Given the description of an element on the screen output the (x, y) to click on. 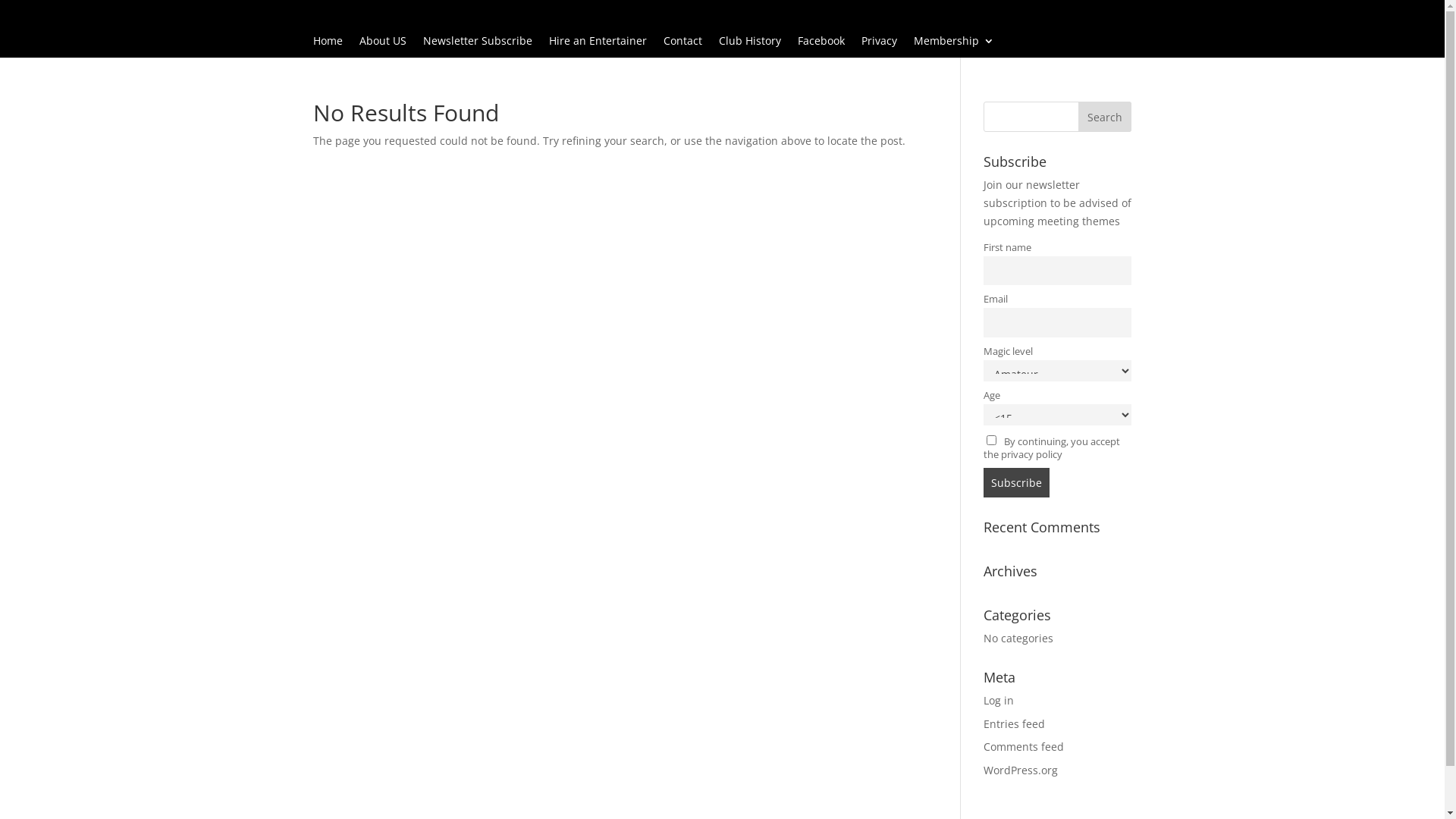
Hire an Entertainer Element type: text (597, 43)
Search Element type: text (1104, 116)
WordPress.org Element type: text (1020, 769)
Log in Element type: text (998, 700)
Contact Element type: text (681, 43)
Subscribe Element type: text (1016, 482)
Facebook Element type: text (820, 43)
Newsletter Subscribe Element type: text (477, 43)
About US Element type: text (382, 43)
Privacy Element type: text (879, 43)
Comments feed Element type: text (1023, 746)
Home Element type: text (327, 43)
Entries feed Element type: text (1013, 722)
Club History Element type: text (749, 43)
By continuing, you accept the privacy policy Element type: text (1051, 448)
Membership Element type: text (953, 43)
